Given the description of an element on the screen output the (x, y) to click on. 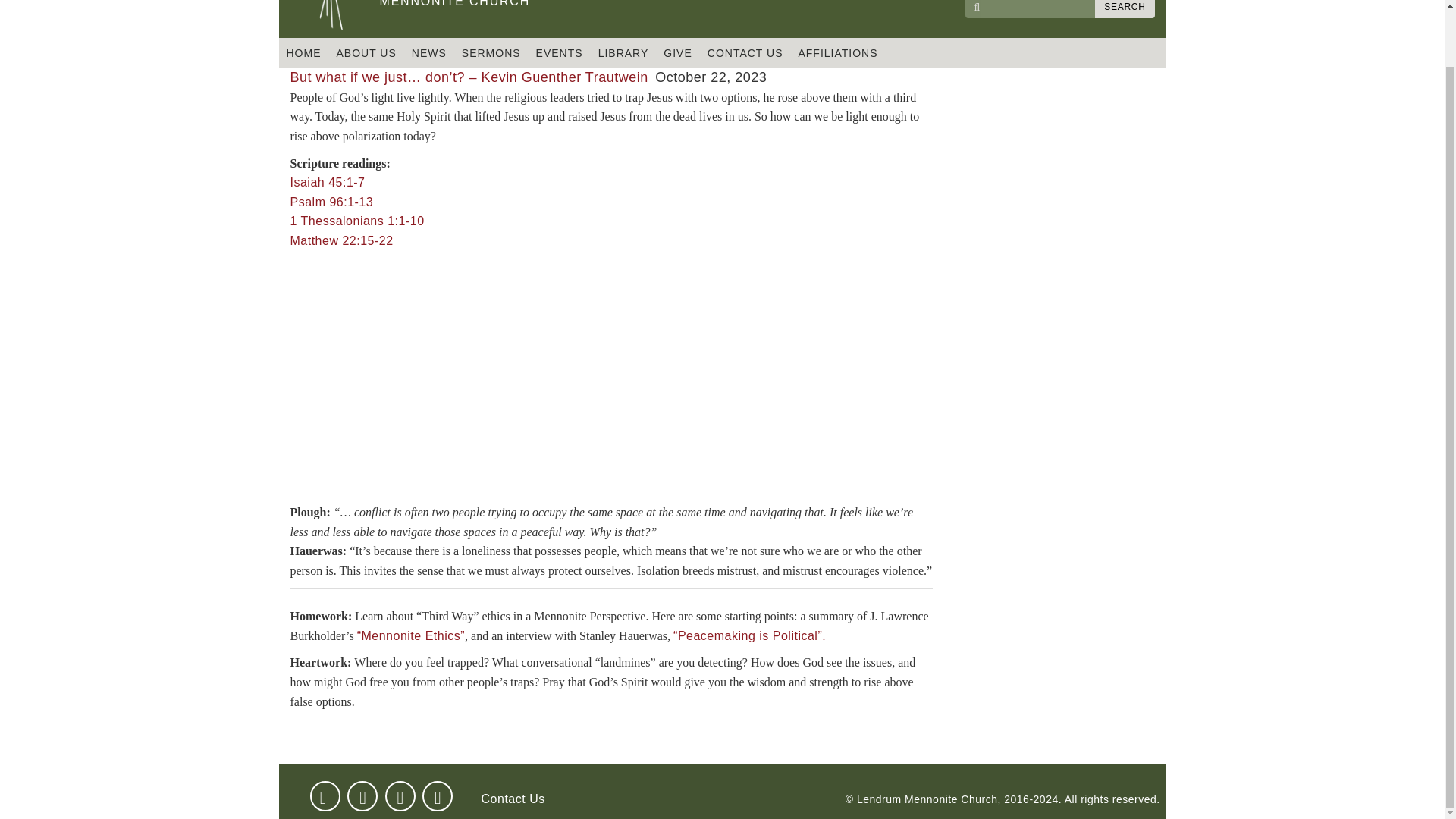
GIVE (677, 52)
SEARCH (1124, 9)
SERMONS (453, 7)
1 Thessalonians 1:1-10 (491, 52)
ABOUT US (356, 220)
instagram (366, 52)
YouTube video player (437, 795)
Psalm 96:1-13 (501, 369)
EVENTS (330, 201)
